Given the description of an element on the screen output the (x, y) to click on. 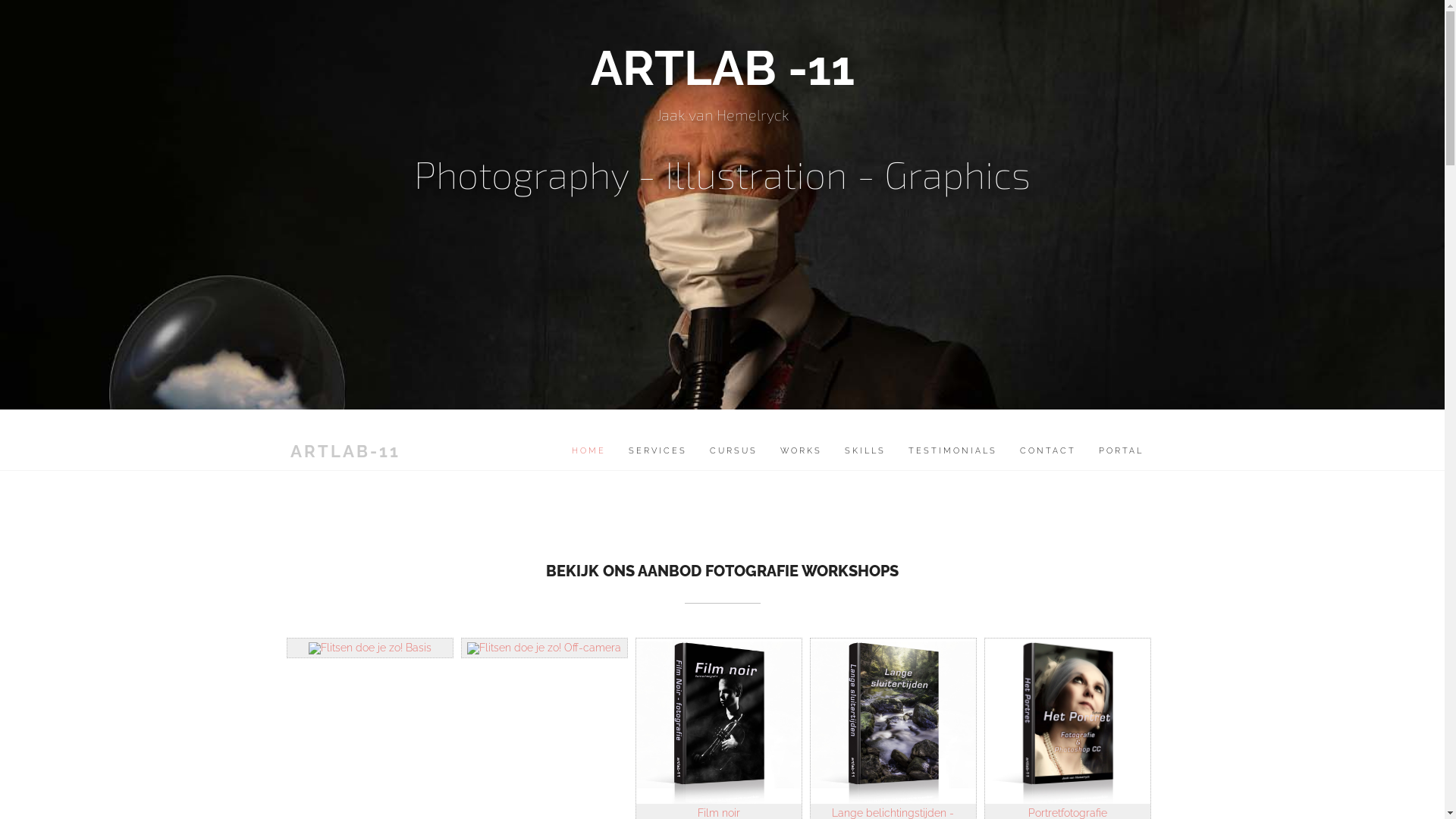
Flitsen doe je zo! Off-camera Element type: text (544, 647)
CONTACT Element type: text (1047, 451)
CURSUS Element type: text (732, 451)
SKILLS Element type: text (864, 451)
SERVICES Element type: text (657, 451)
PORTAL Element type: text (1120, 451)
Flitsen doe je zo! Basis Element type: text (368, 647)
ARTLAB-11 Element type: text (345, 451)
TESTIMONIALS Element type: text (951, 451)
HOME Element type: text (587, 451)
WORKS Element type: text (800, 451)
